Given the description of an element on the screen output the (x, y) to click on. 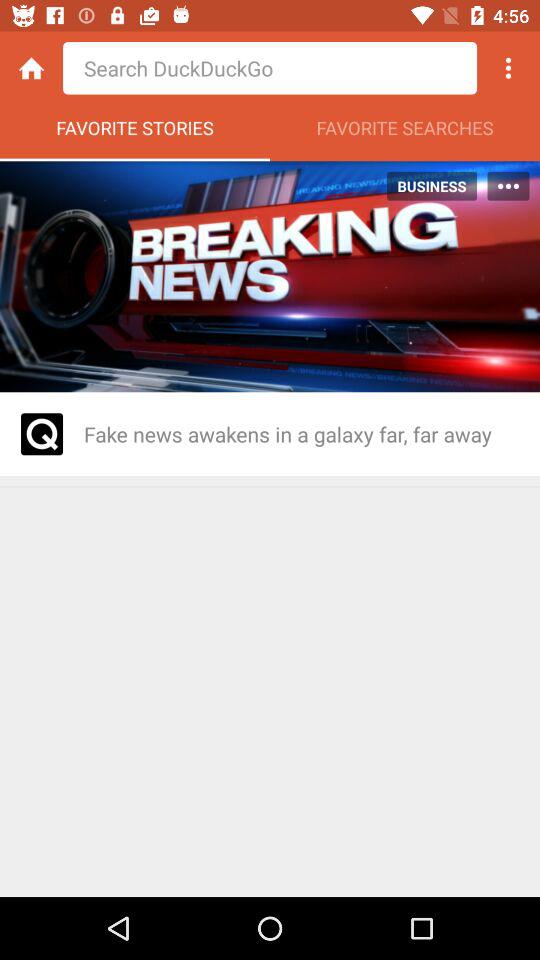
launch app next to the favorite stories icon (405, 133)
